Given the description of an element on the screen output the (x, y) to click on. 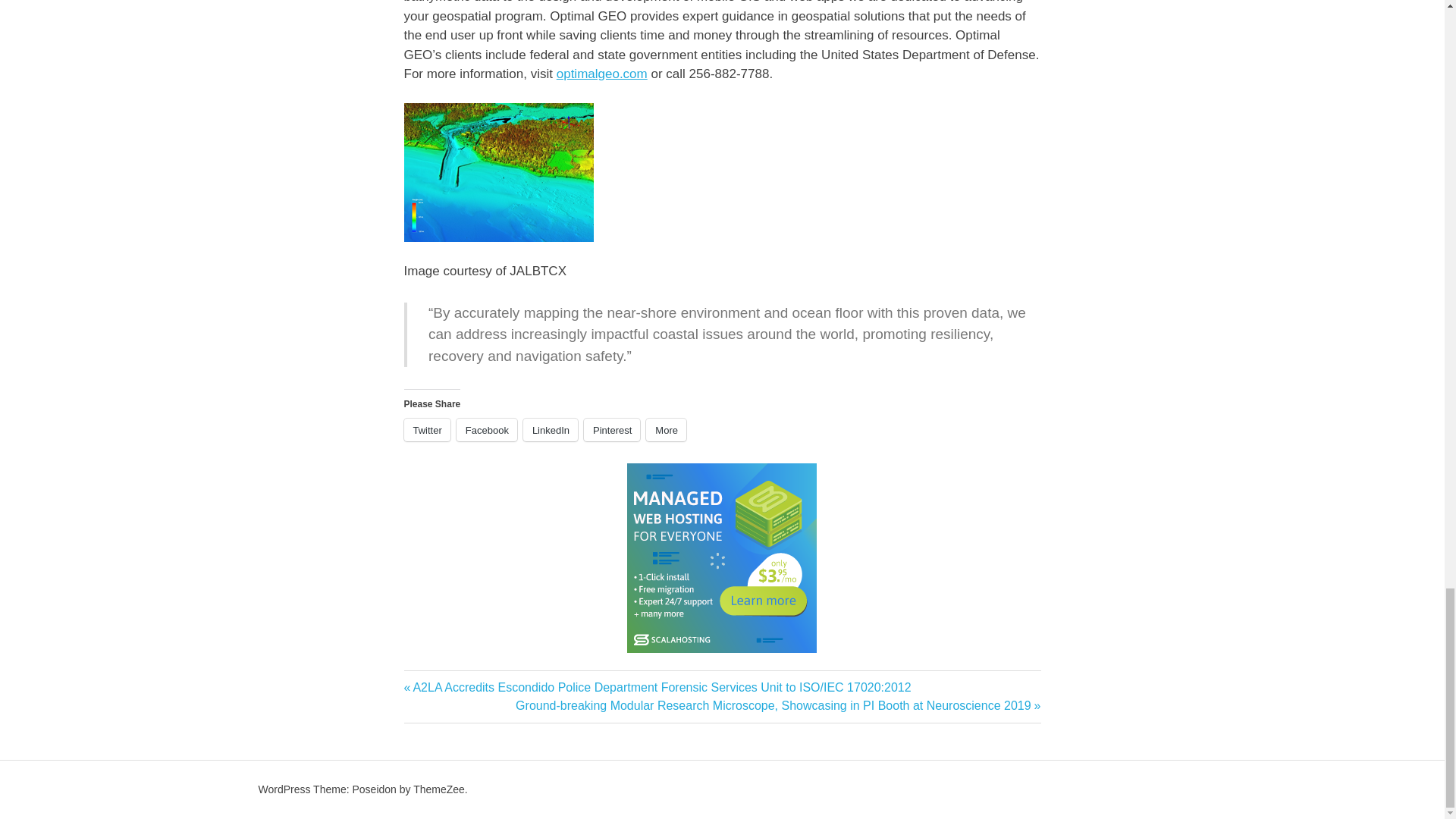
Click to share on Pinterest (611, 429)
Click to share on LinkedIn (550, 429)
optimalgeo.com (601, 73)
Click to share on Facebook (486, 429)
Twitter (426, 429)
LinkedIn (550, 429)
Pinterest (611, 429)
Facebook (486, 429)
More (665, 429)
